Given the description of an element on the screen output the (x, y) to click on. 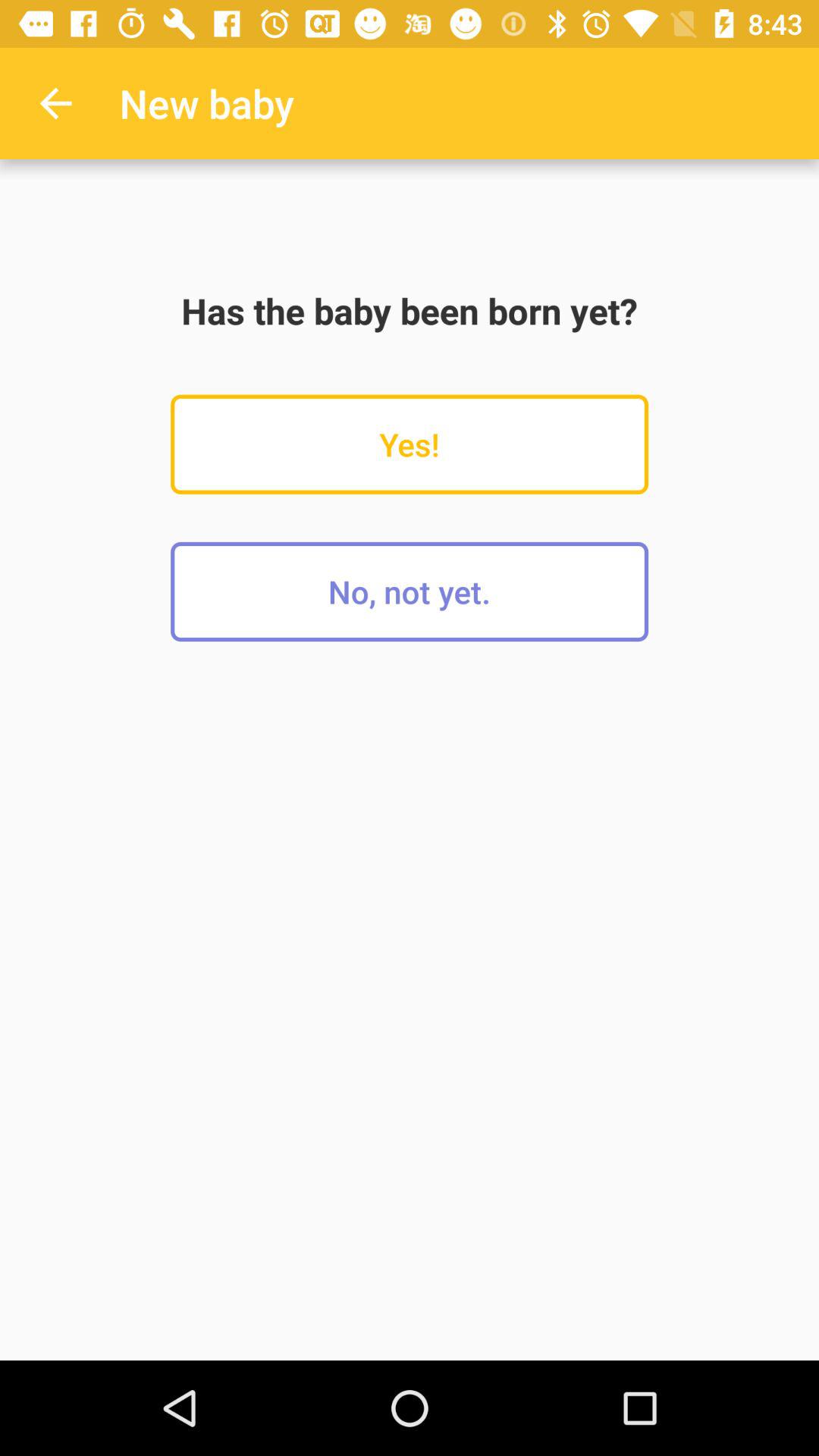
open yes! (409, 444)
